Given the description of an element on the screen output the (x, y) to click on. 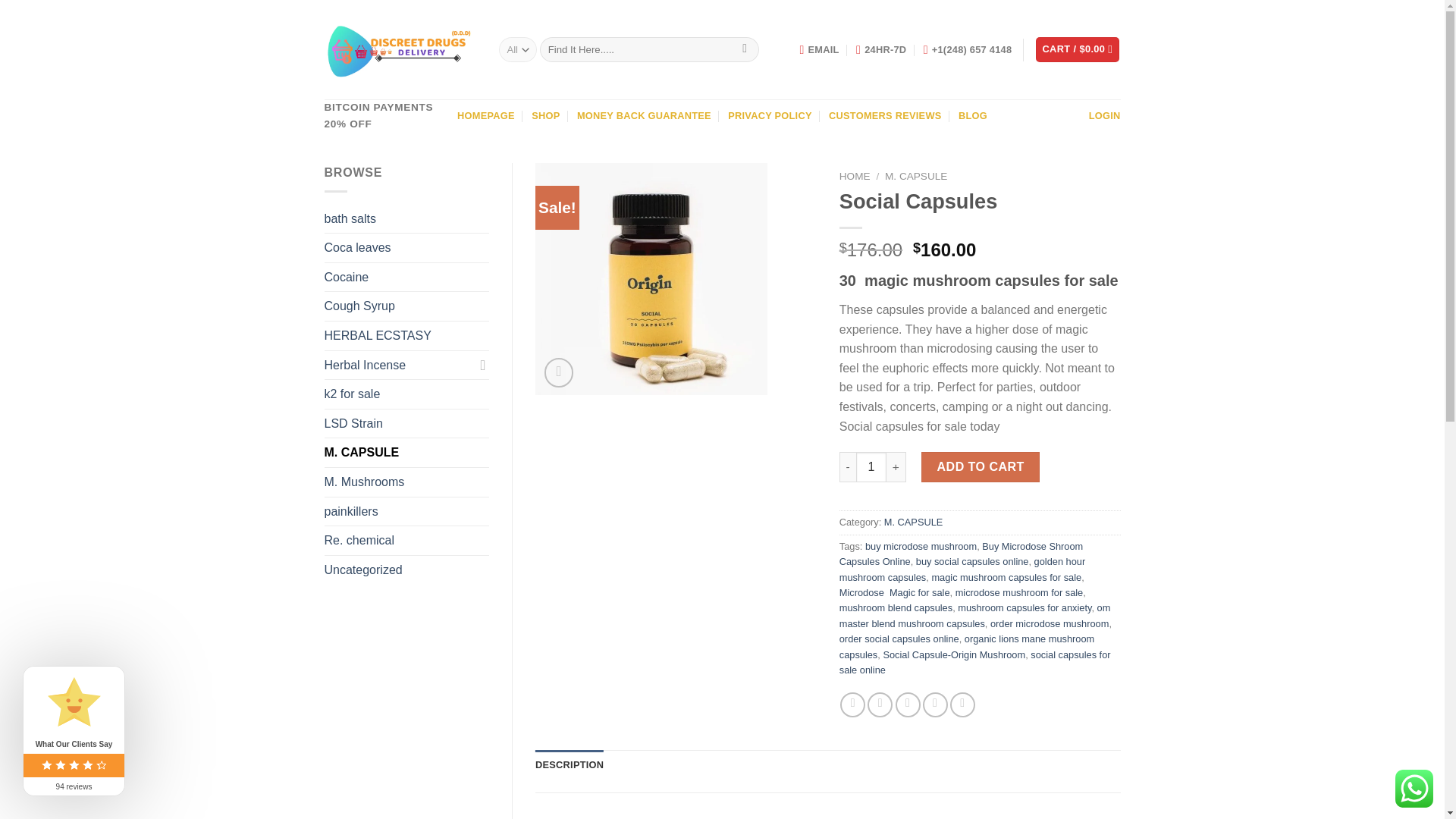
bath salts (406, 218)
Search (744, 49)
24HR-7D (880, 49)
M. CAPSULE (916, 174)
HOME (855, 174)
Pin on Pinterest (935, 704)
Coca leaves (406, 247)
Re. chemical (406, 540)
Share on Twitter (879, 704)
CUSTOMERS REVIEWS (884, 115)
Email to a Friend (907, 704)
LSD Strain (406, 423)
k2 for sale (406, 394)
M. CAPSULE (406, 452)
